Given the description of an element on the screen output the (x, y) to click on. 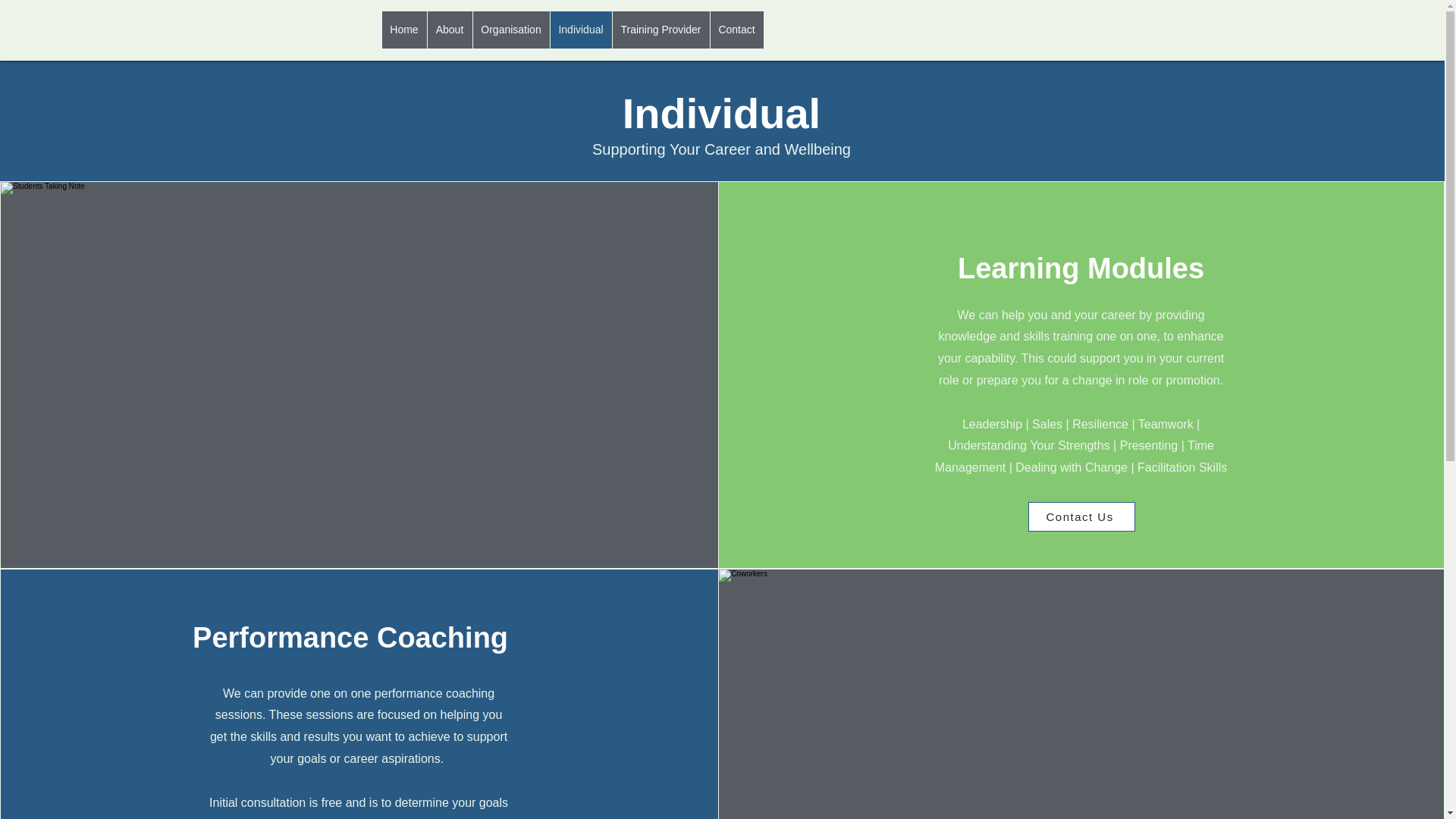
Training Provider (660, 29)
Contact Us (1081, 516)
Organisation (509, 29)
Contact (736, 29)
Home (403, 29)
Individual (579, 29)
About (448, 29)
